Given the description of an element on the screen output the (x, y) to click on. 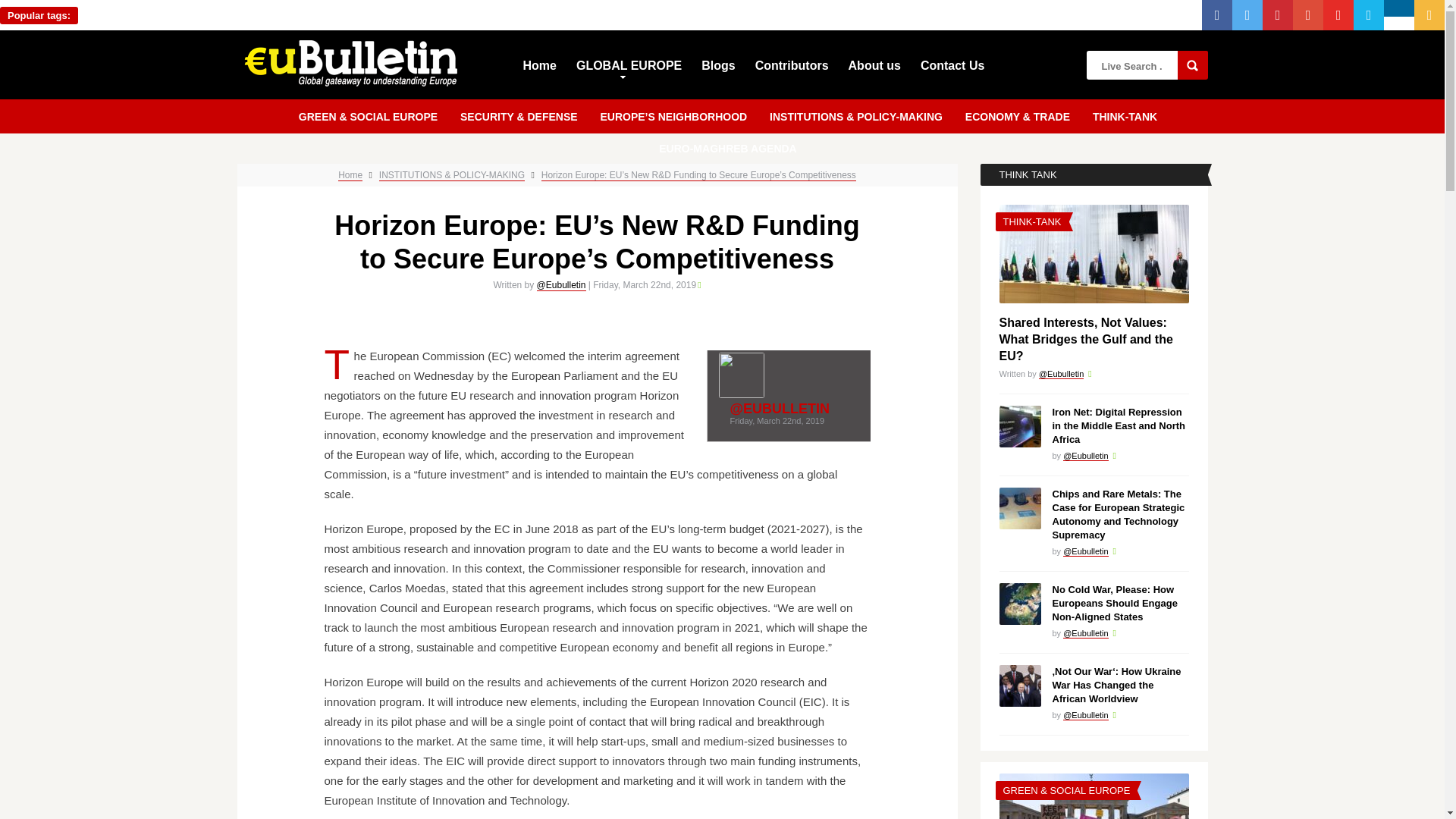
GLOBAL EUROPE (628, 64)
THINK-TANK (1124, 115)
Home (539, 64)
Home (349, 174)
Search (1191, 64)
Contributors (791, 64)
About us (875, 64)
Blogs (718, 64)
Contact Us (952, 64)
Search (1191, 64)
